Given the description of an element on the screen output the (x, y) to click on. 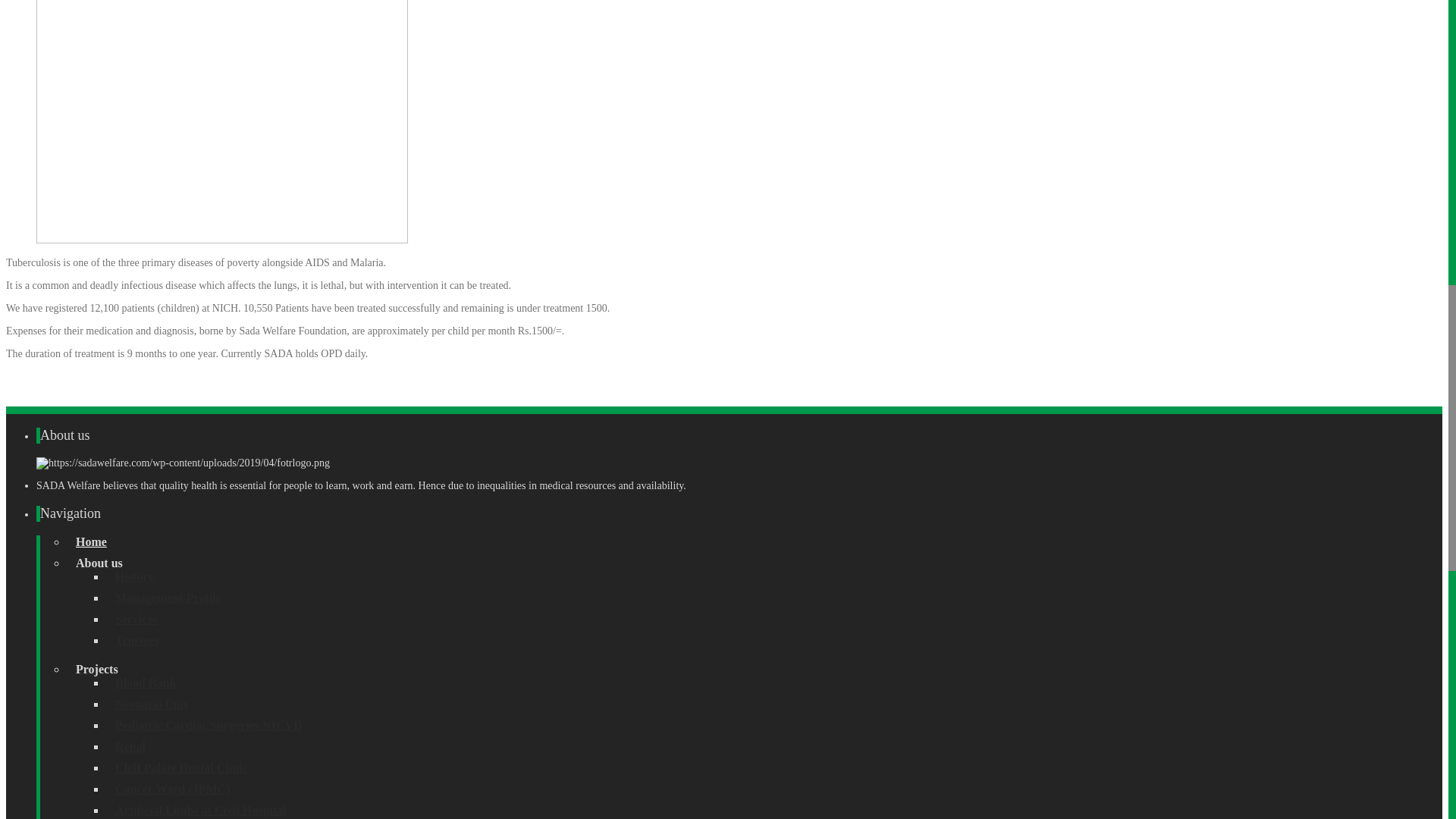
Home (90, 541)
Trustees (136, 640)
About us (98, 562)
Services (136, 618)
Management Profile (168, 597)
History (134, 576)
